Given the description of an element on the screen output the (x, y) to click on. 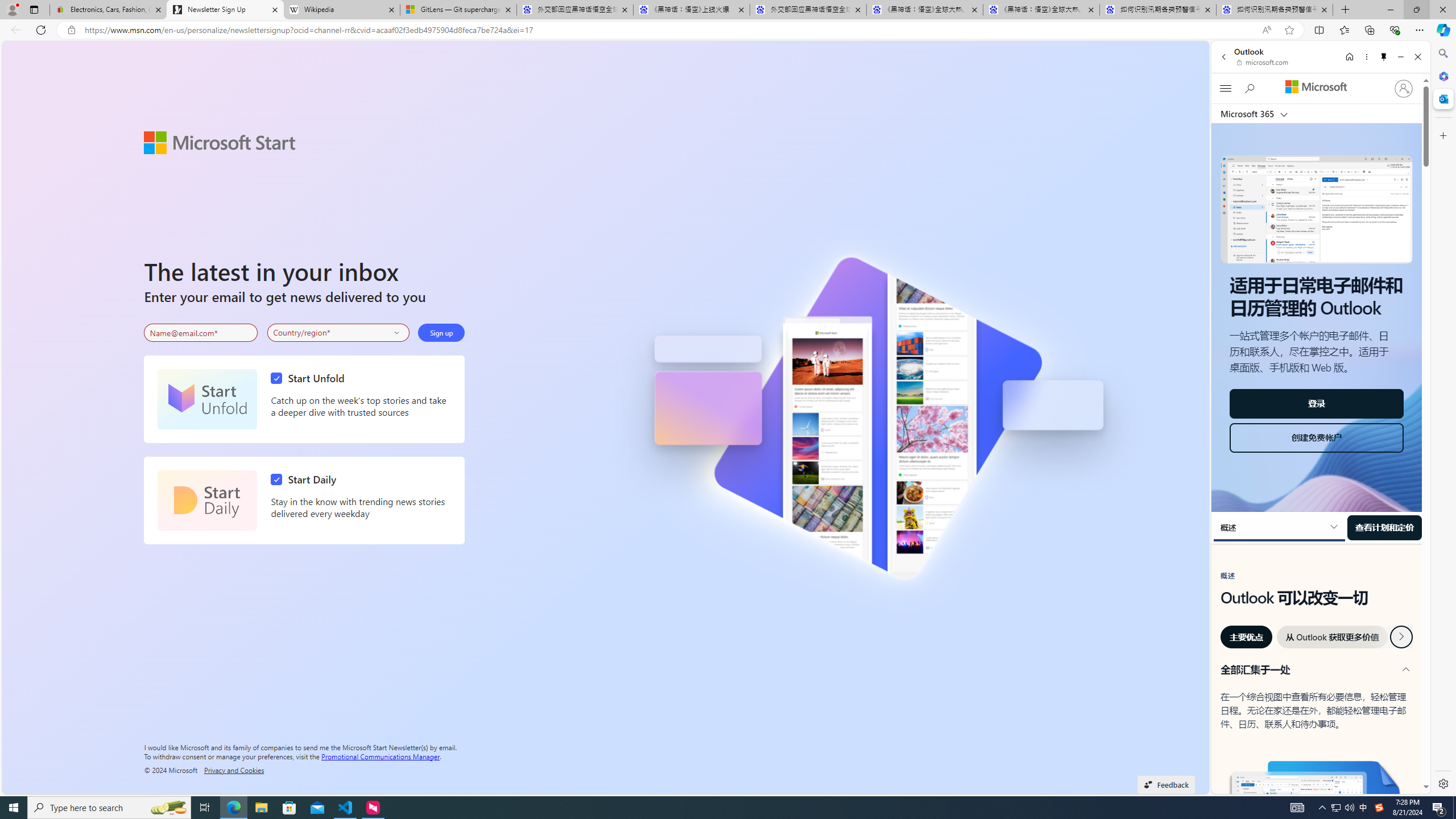
Enter your email (200, 332)
Start Unfold (310, 378)
Promotional Communications Manager (380, 755)
Start Unfold (207, 399)
Privacy and Cookies (233, 769)
